Given the description of an element on the screen output the (x, y) to click on. 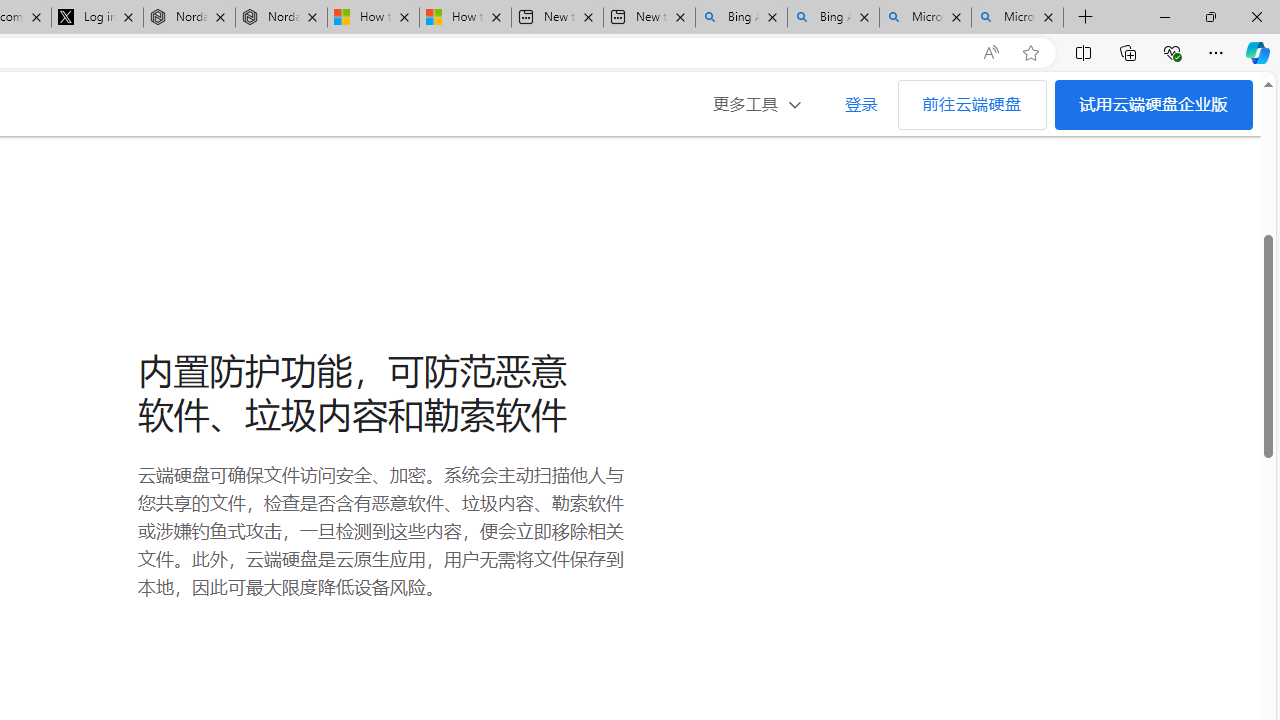
Log in to X / X (97, 17)
Microsoft Bing Timeline - Search (1017, 17)
How to Use a Monitor With Your Closed Laptop (464, 17)
Bing AI - Search (833, 17)
